Given the description of an element on the screen output the (x, y) to click on. 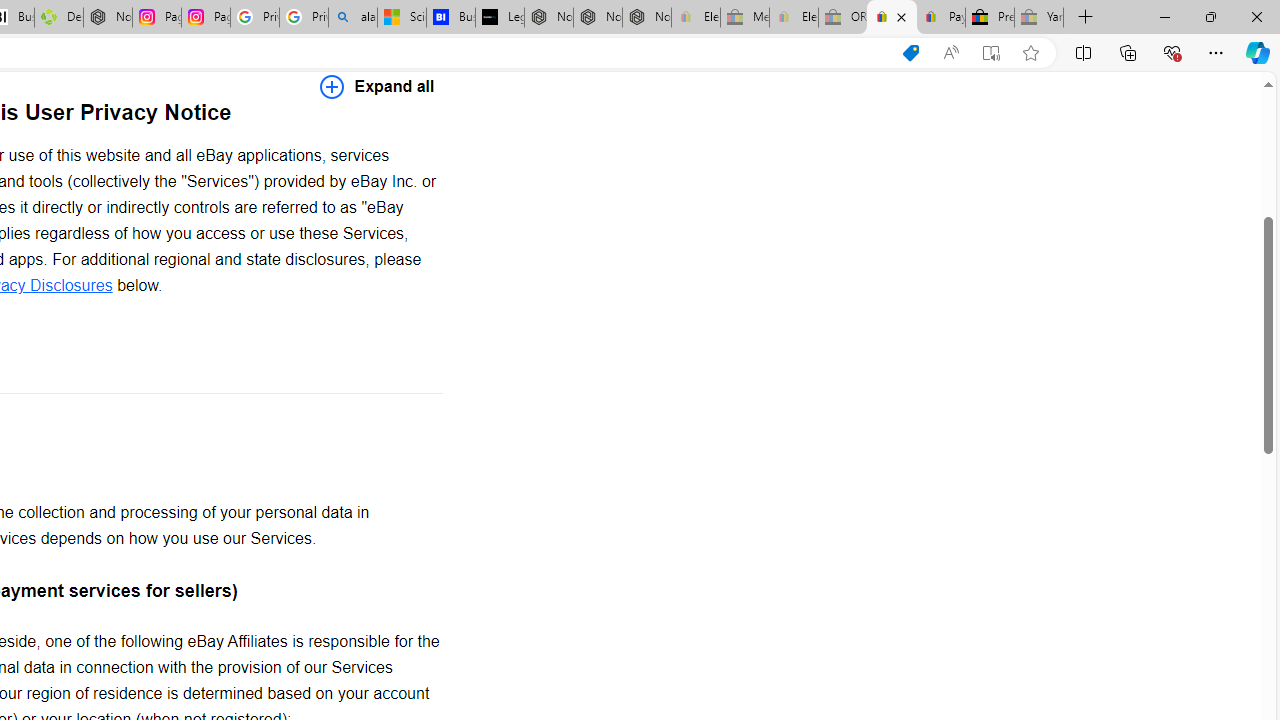
Enter Immersive Reader (F9) (991, 53)
User Privacy Notice | eBay (891, 17)
Expand all (377, 86)
This site has coupons! Shopping in Microsoft Edge (910, 53)
